Given the description of an element on the screen output the (x, y) to click on. 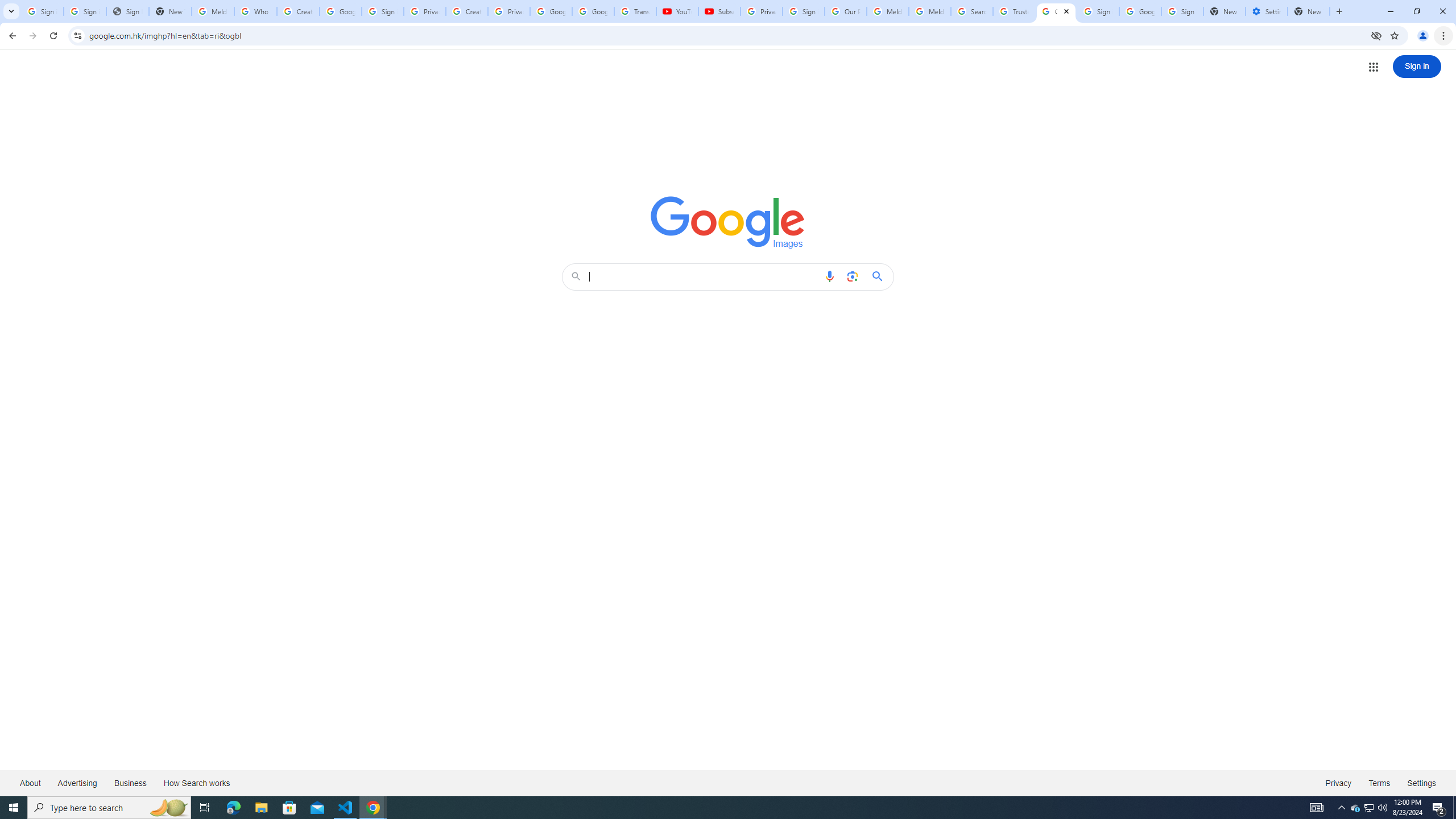
Sign in - Google Accounts (1097, 11)
Trusted Information and Content - Google Safety Center (1013, 11)
Google Cybersecurity Innovations - Google Safety Center (1139, 11)
Business (129, 782)
Sign in - Google Accounts (85, 11)
Sign in - Google Accounts (1182, 11)
